Given the description of an element on the screen output the (x, y) to click on. 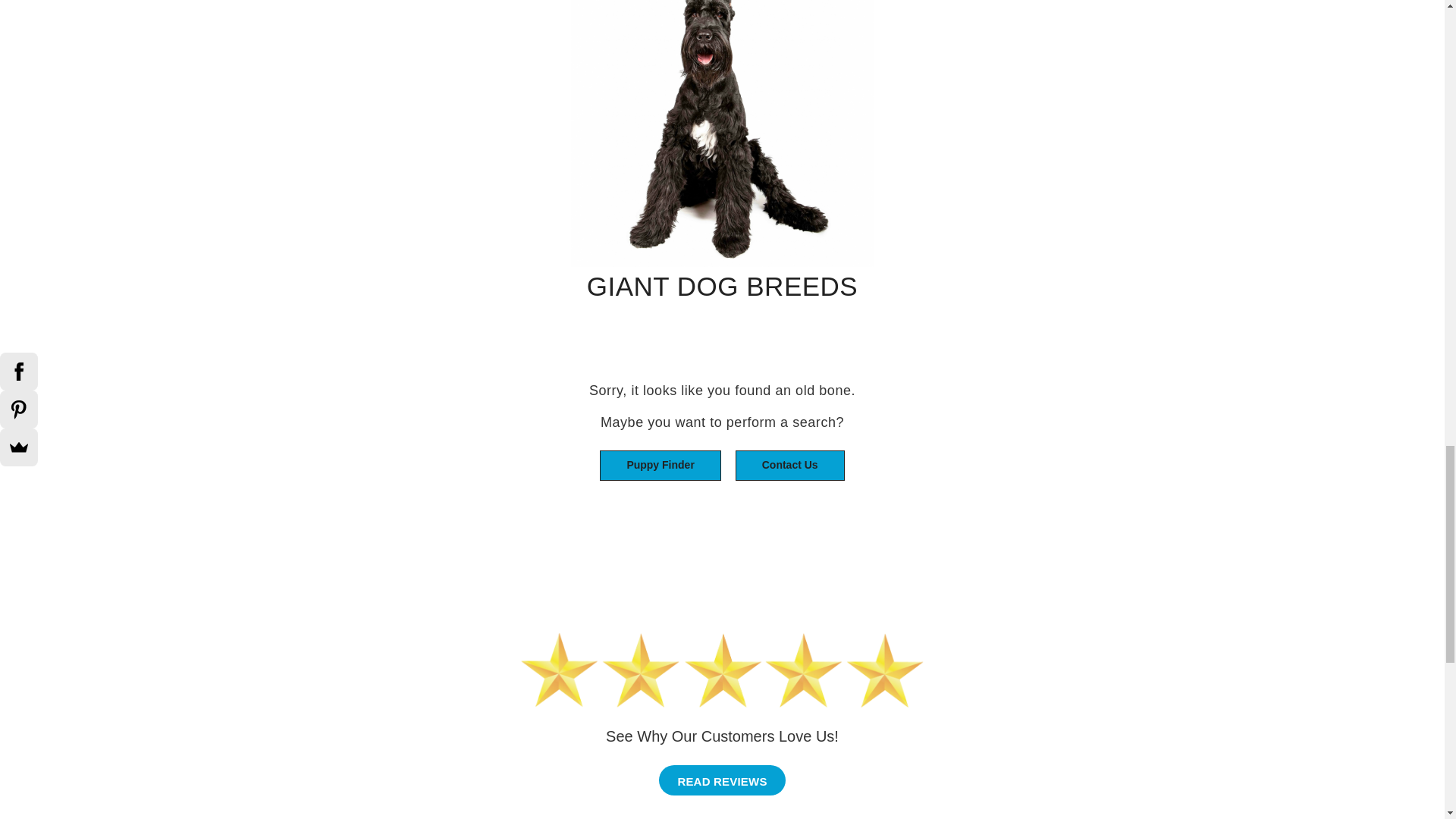
Contact Us (789, 465)
Puppy Finder (659, 465)
GIANT DOG BREEDS (722, 209)
